Given the description of an element on the screen output the (x, y) to click on. 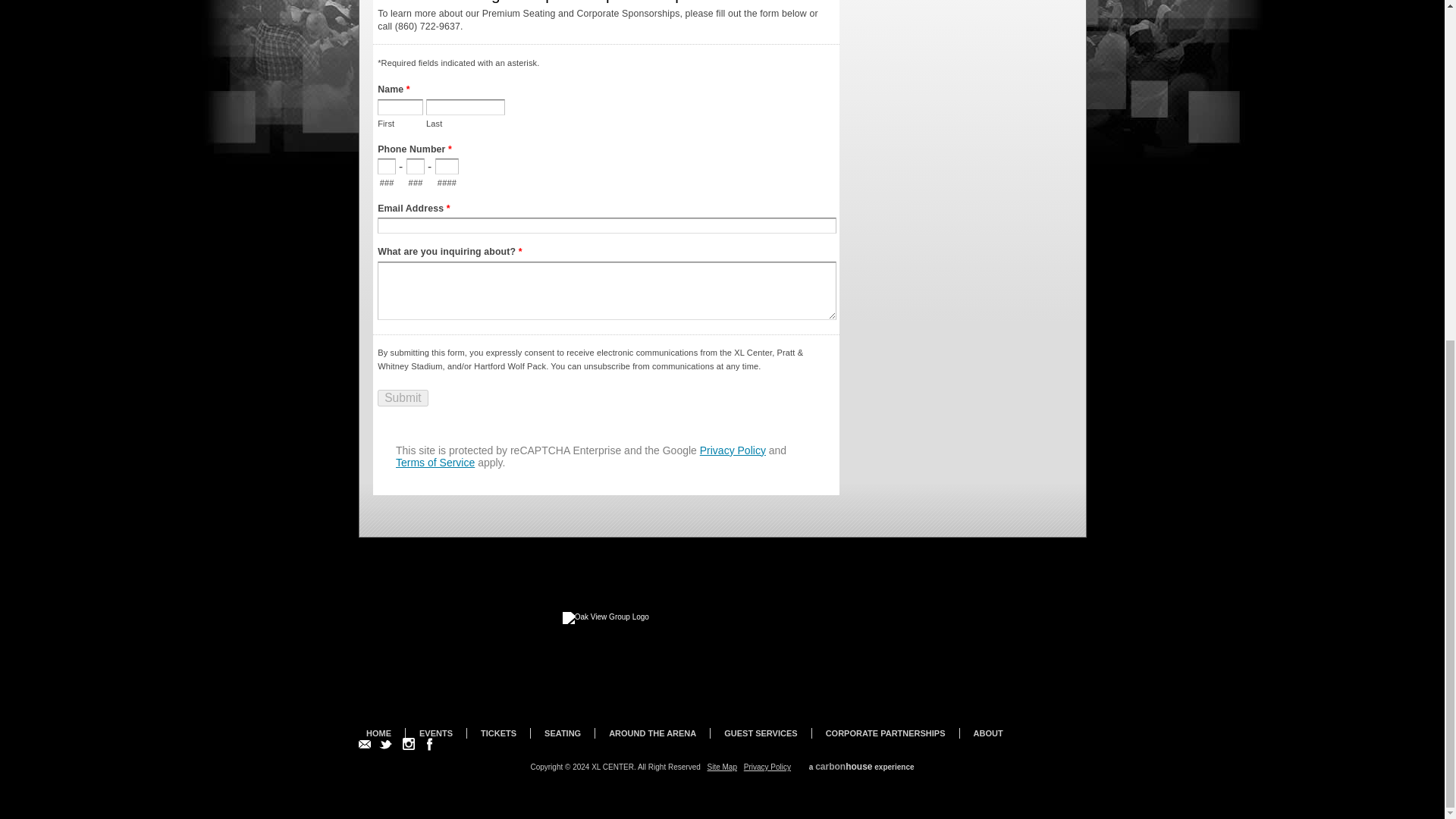
Oak View Group Link (607, 645)
a carbonhouse experience (861, 766)
Sign Up for our Email Newsletter (364, 744)
Seating (562, 733)
Around the Arena (651, 733)
Guest Services (759, 733)
Corporate Partnerships (884, 733)
Home (378, 733)
Events (435, 733)
